Given the description of an element on the screen output the (x, y) to click on. 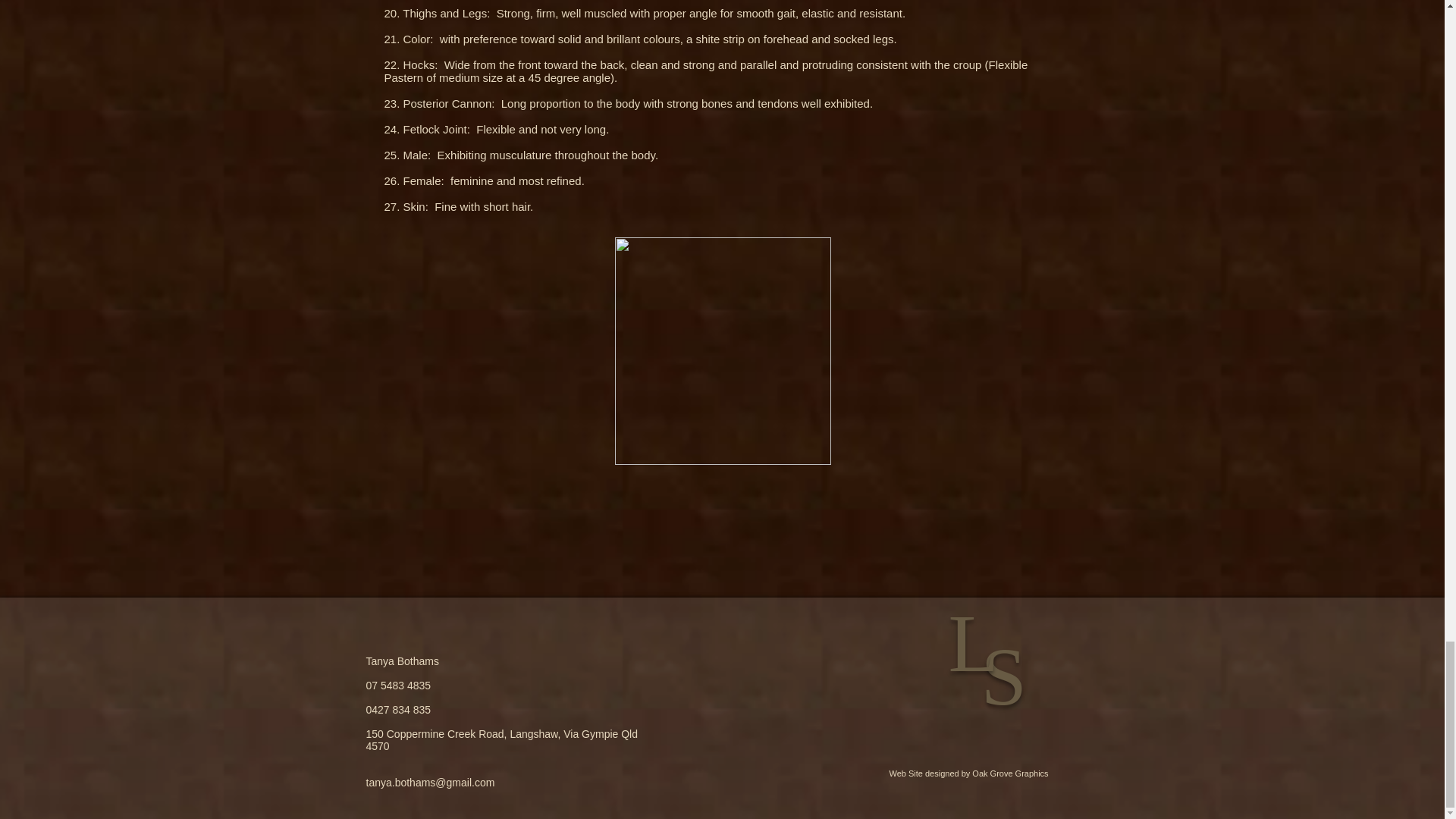
Sorraia.jpeg (721, 351)
